Given the description of an element on the screen output the (x, y) to click on. 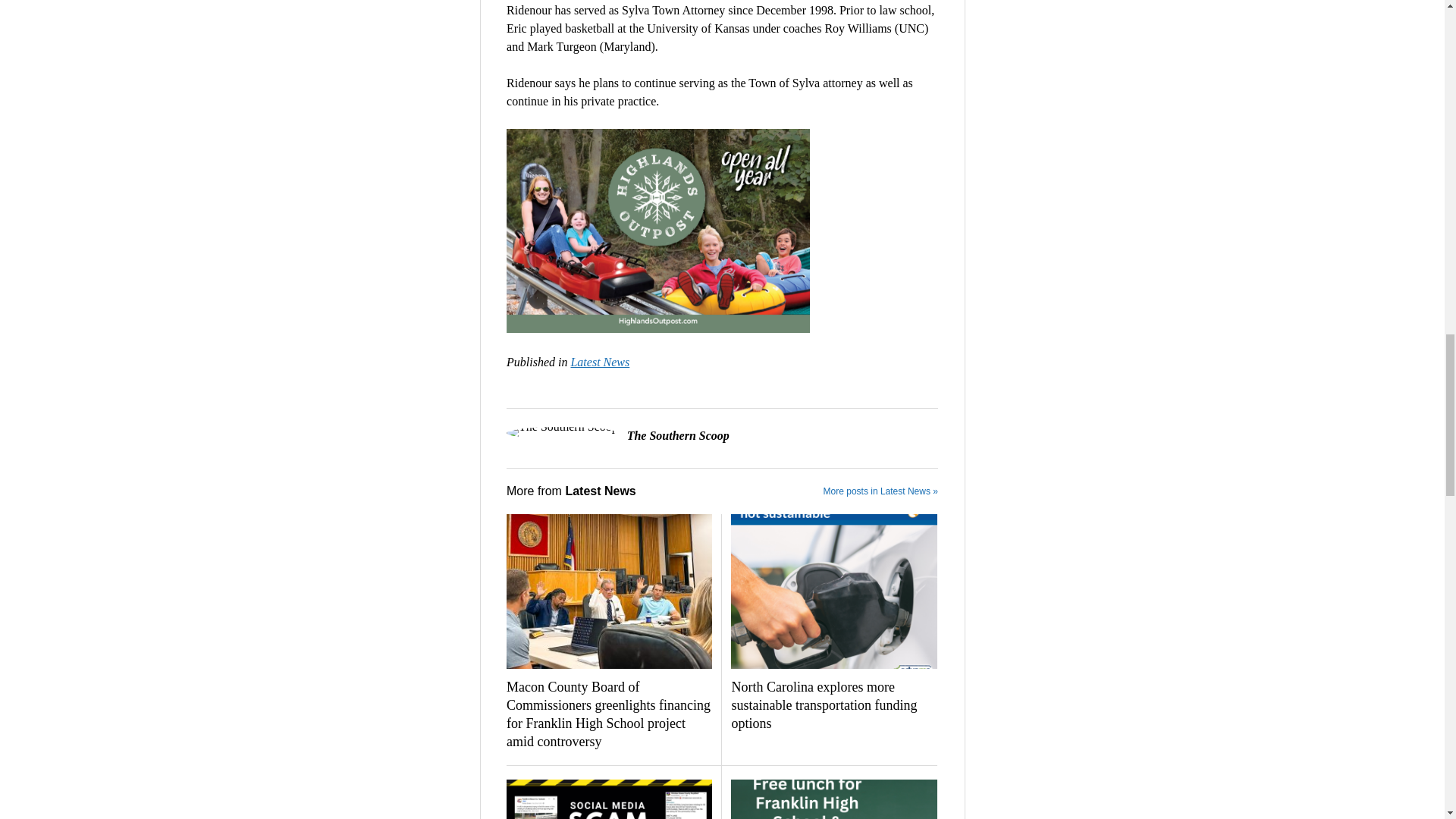
Latest News (599, 361)
View all posts in Latest News (599, 361)
